Given the description of an element on the screen output the (x, y) to click on. 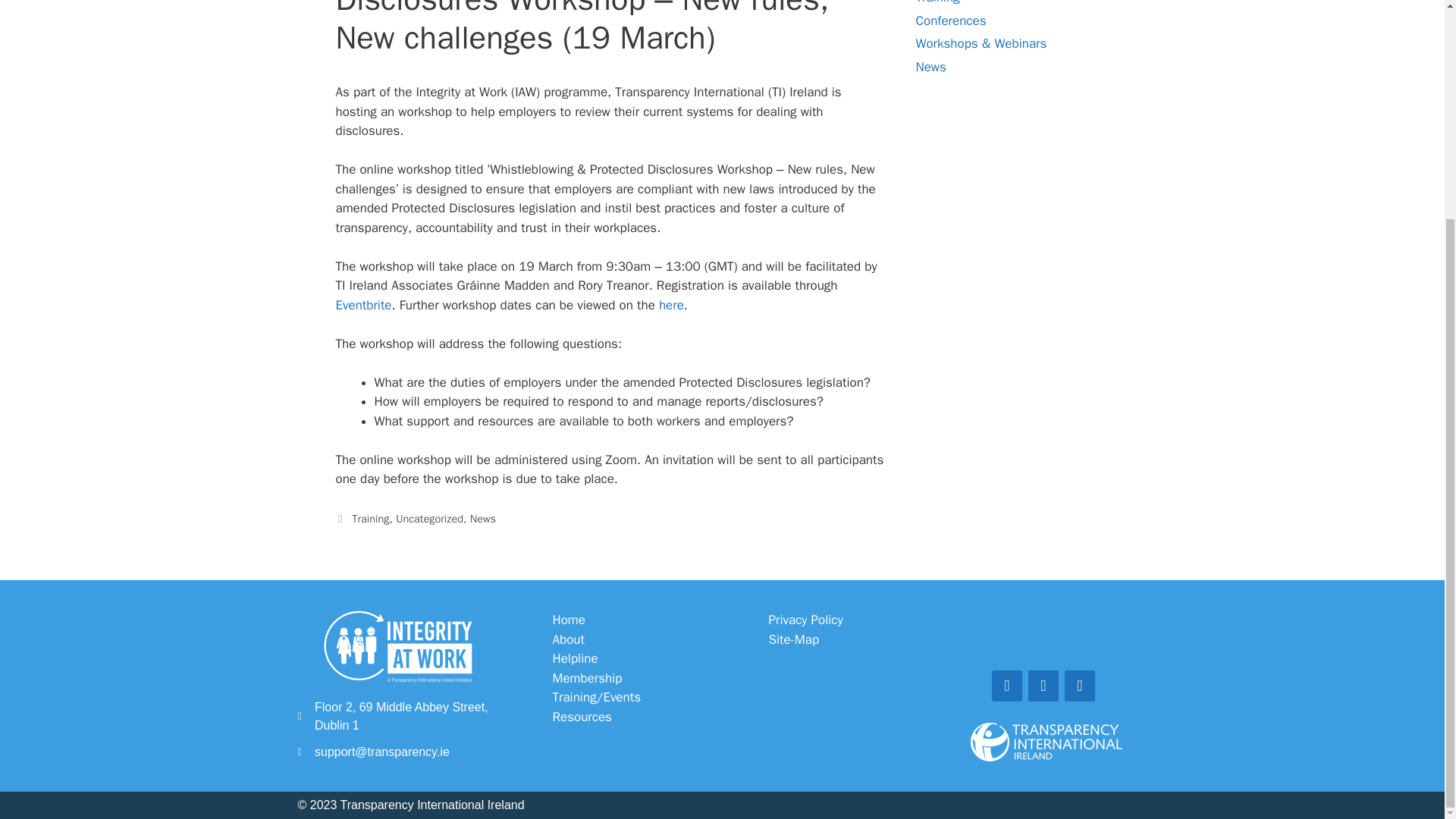
YouTube (1006, 685)
Twitter (1042, 685)
LinkedIn (1079, 685)
